Given the description of an element on the screen output the (x, y) to click on. 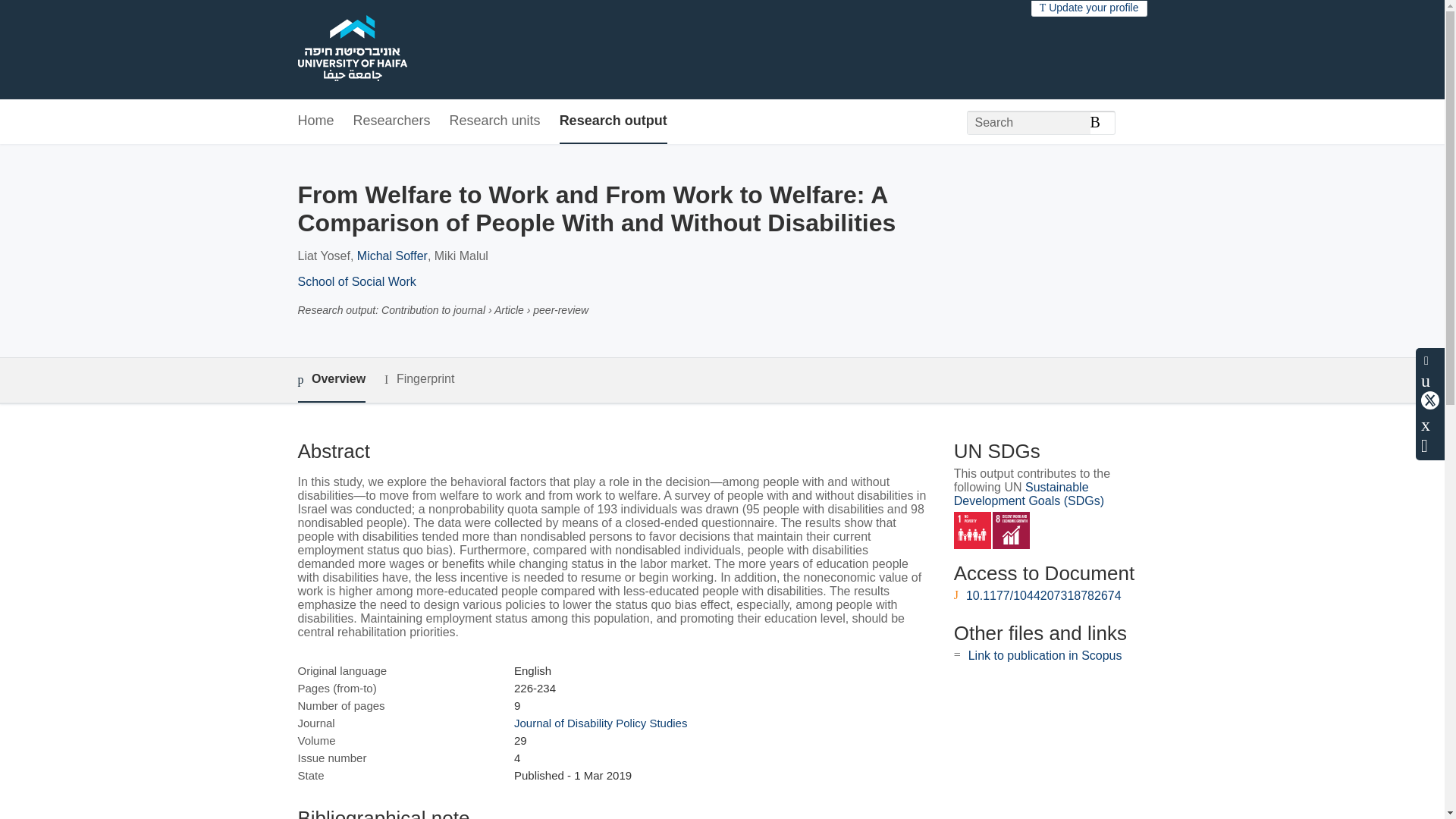
Research units (494, 121)
University of Haifa Home (351, 49)
Journal of Disability Policy Studies (600, 722)
SDG 1 - No Poverty (972, 529)
School of Social Work (355, 281)
Update your profile (1089, 7)
Researchers (391, 121)
Fingerprint (419, 379)
Research output (612, 121)
